Given the description of an element on the screen output the (x, y) to click on. 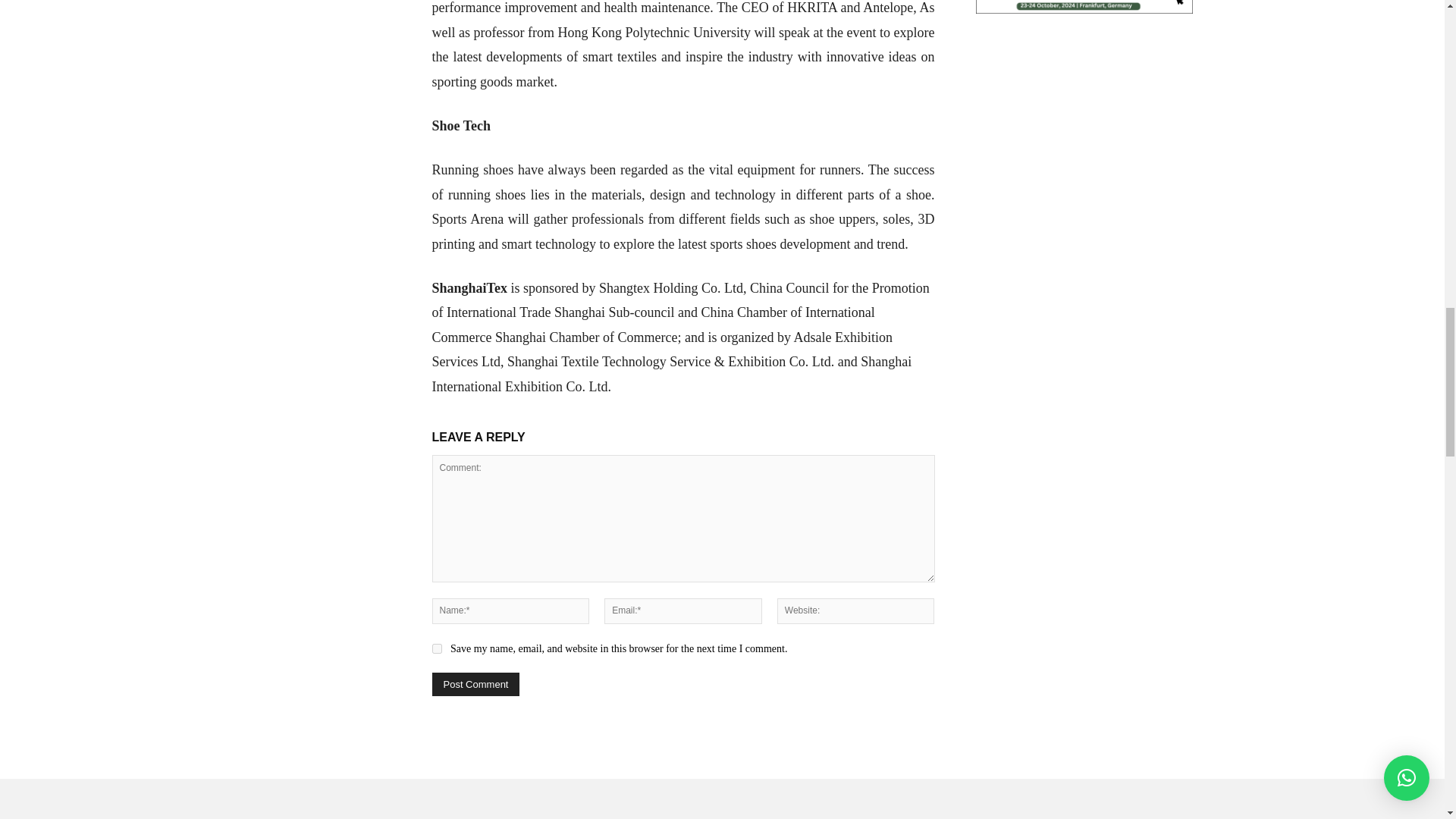
yes (437, 648)
Post Comment (475, 684)
